Given the description of an element on the screen output the (x, y) to click on. 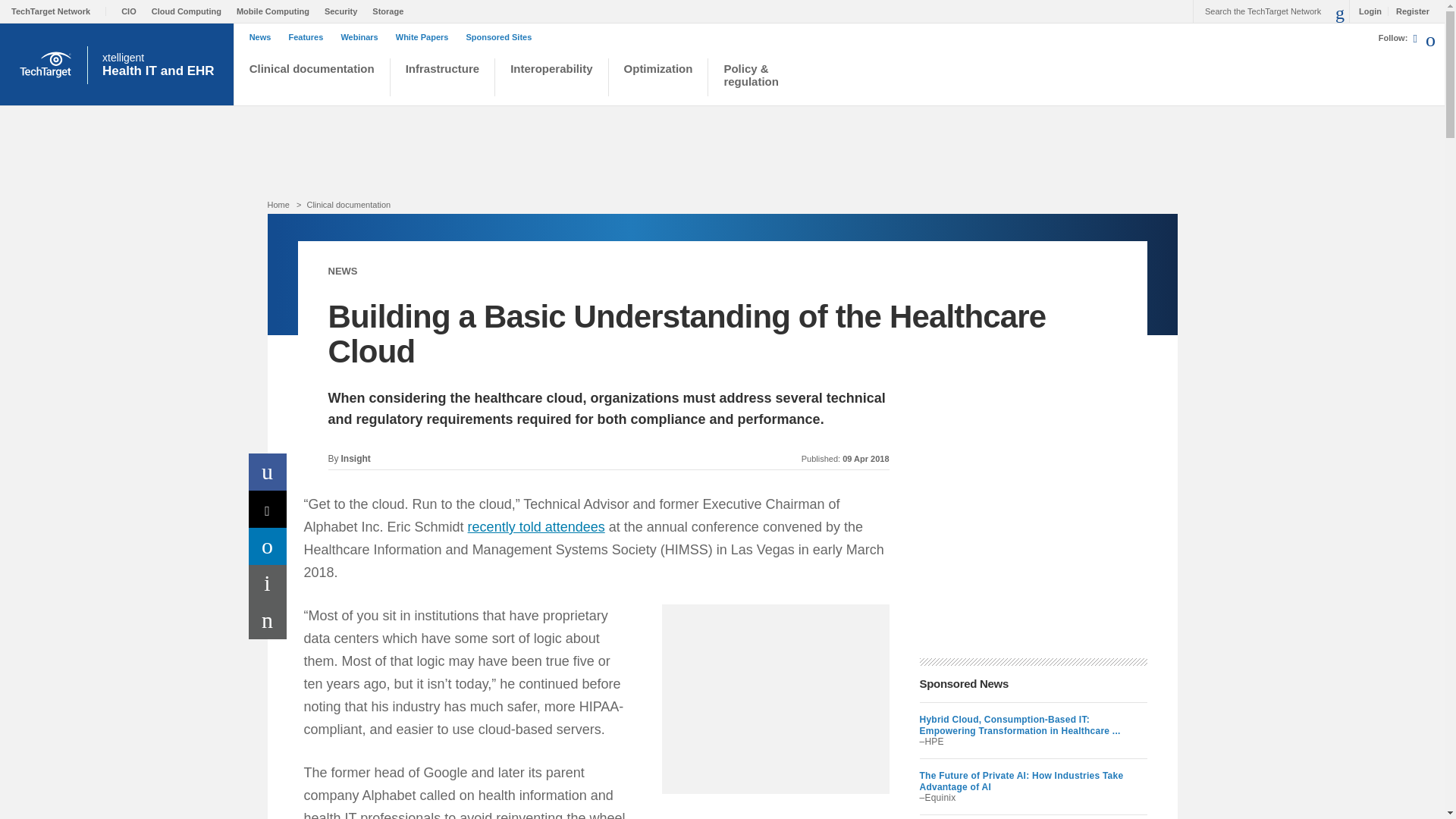
CIO (132, 10)
Share on LinkedIn (267, 546)
Register (1408, 10)
Share on X (267, 508)
Email a Friend (267, 620)
Infrastructure (443, 79)
Cloud Computing (189, 10)
Share on Facebook (267, 471)
Login (1366, 10)
Optimization (658, 79)
Security (344, 10)
recently told attendees (536, 526)
Home (277, 204)
Webinars (362, 36)
Mobile Computing (276, 10)
